Given the description of an element on the screen output the (x, y) to click on. 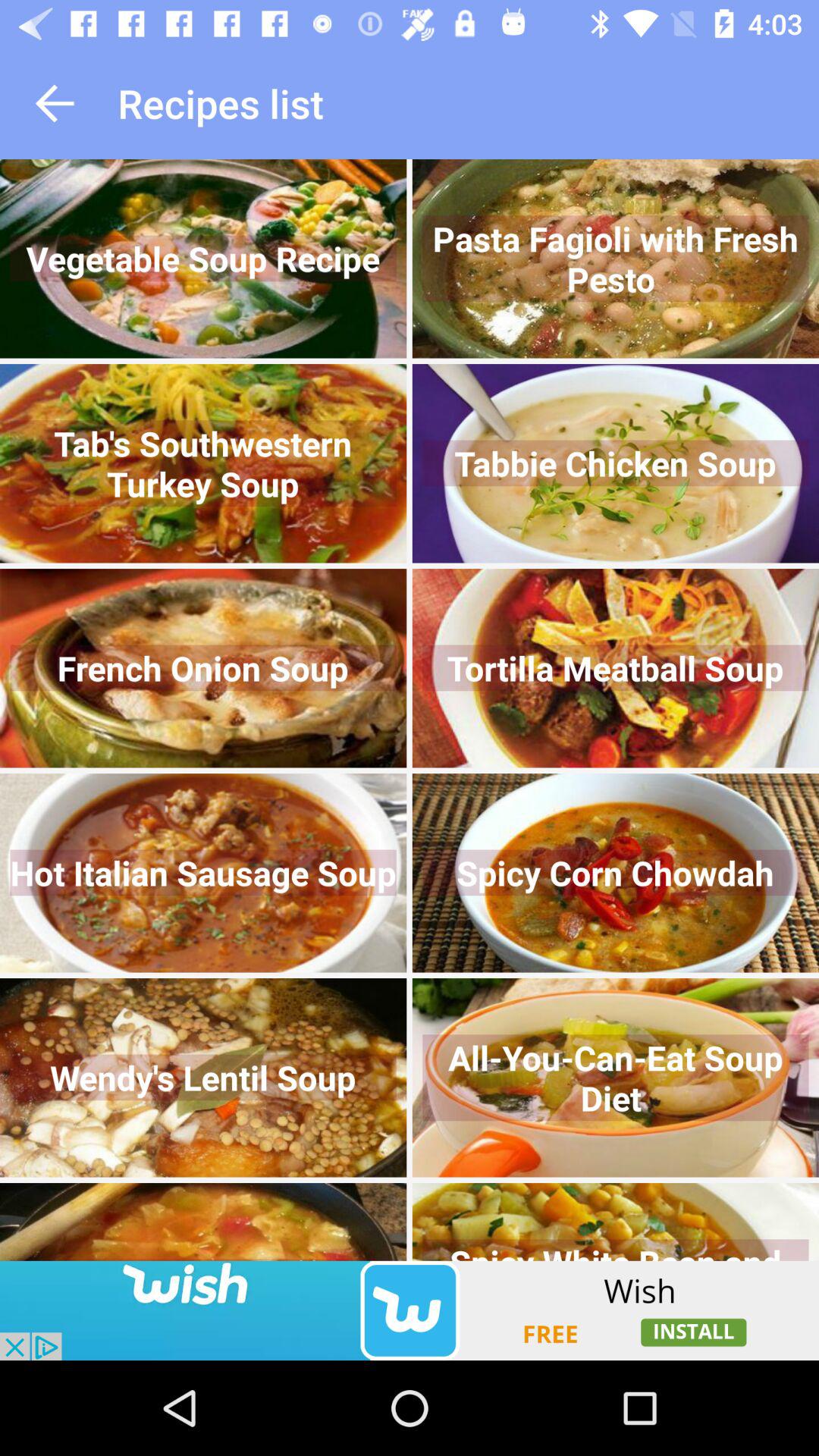
advertisement (409, 1310)
